Given the description of an element on the screen output the (x, y) to click on. 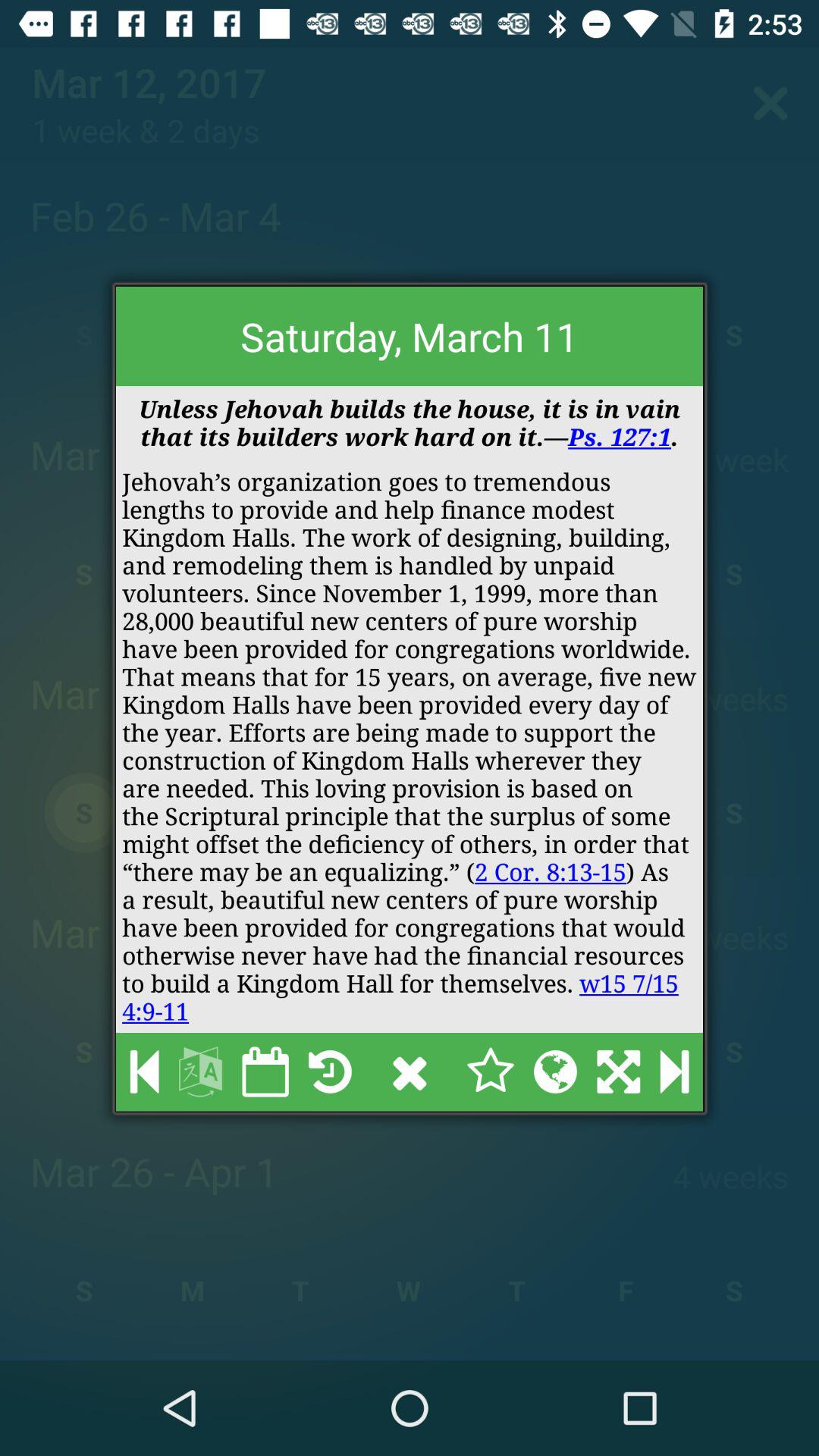
choose the item below jehovah s organization icon (674, 1071)
